Given the description of an element on the screen output the (x, y) to click on. 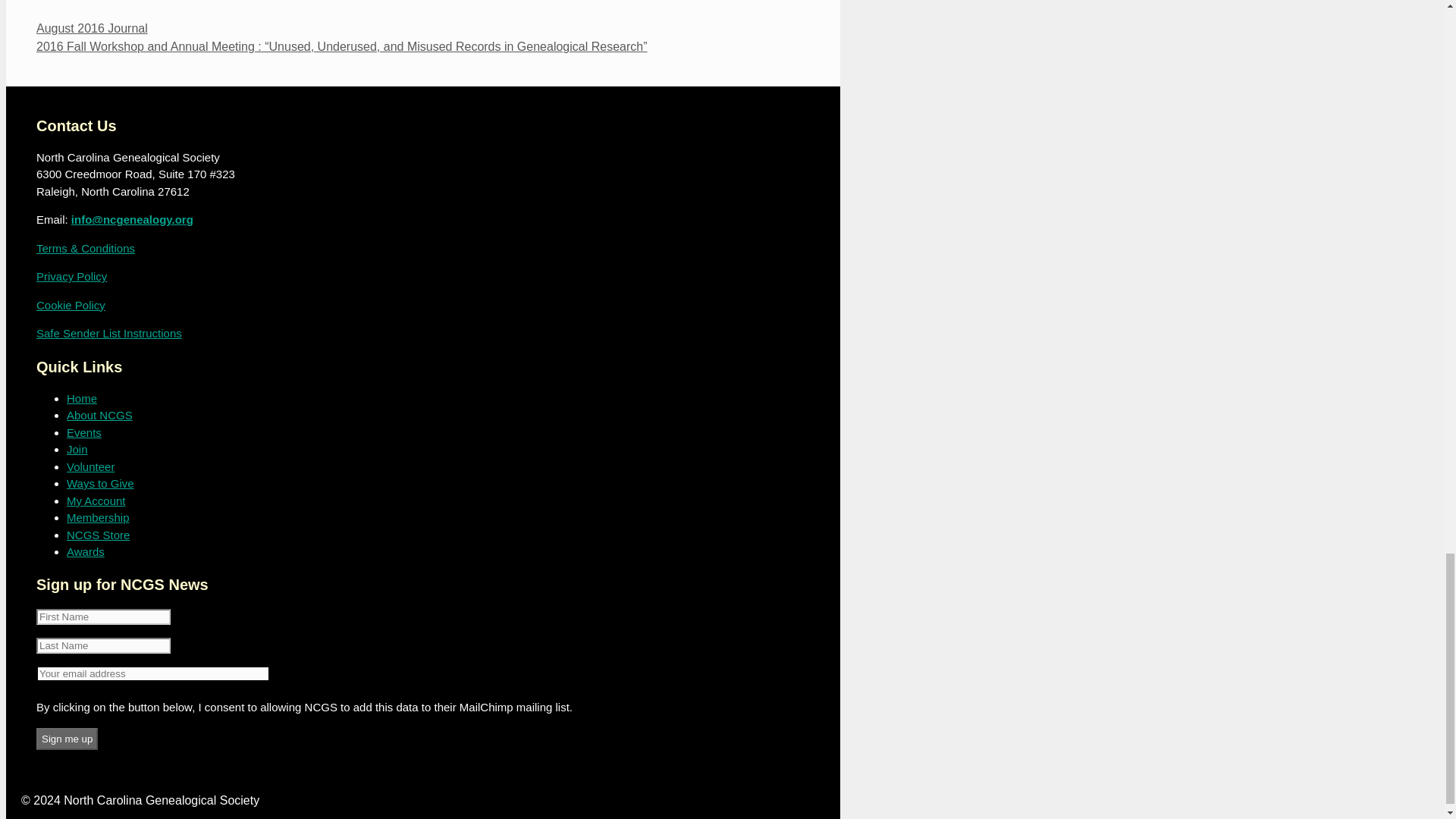
Sign me up (66, 739)
